Given the description of an element on the screen output the (x, y) to click on. 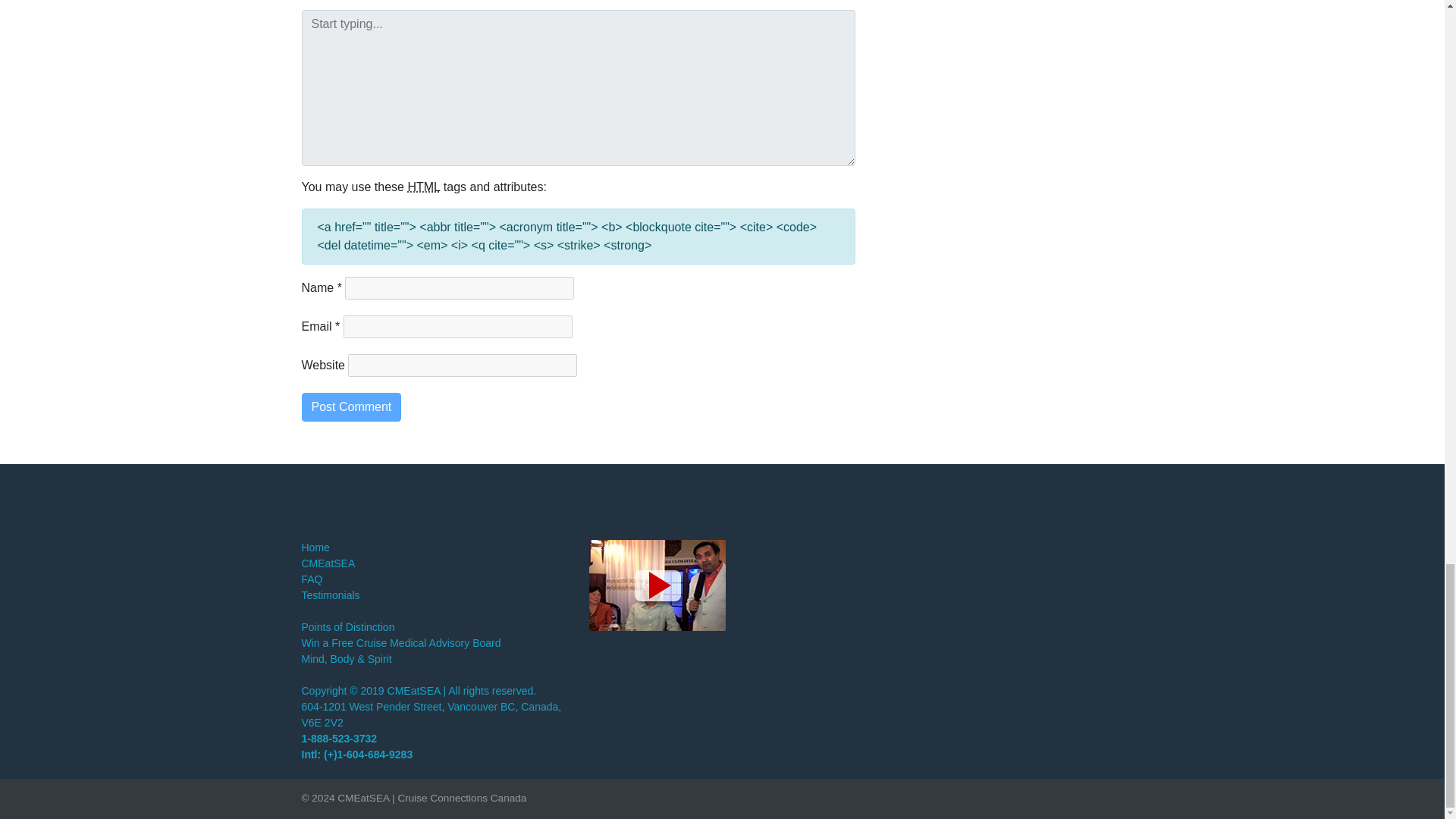
Post Comment (351, 407)
